Given the description of an element on the screen output the (x, y) to click on. 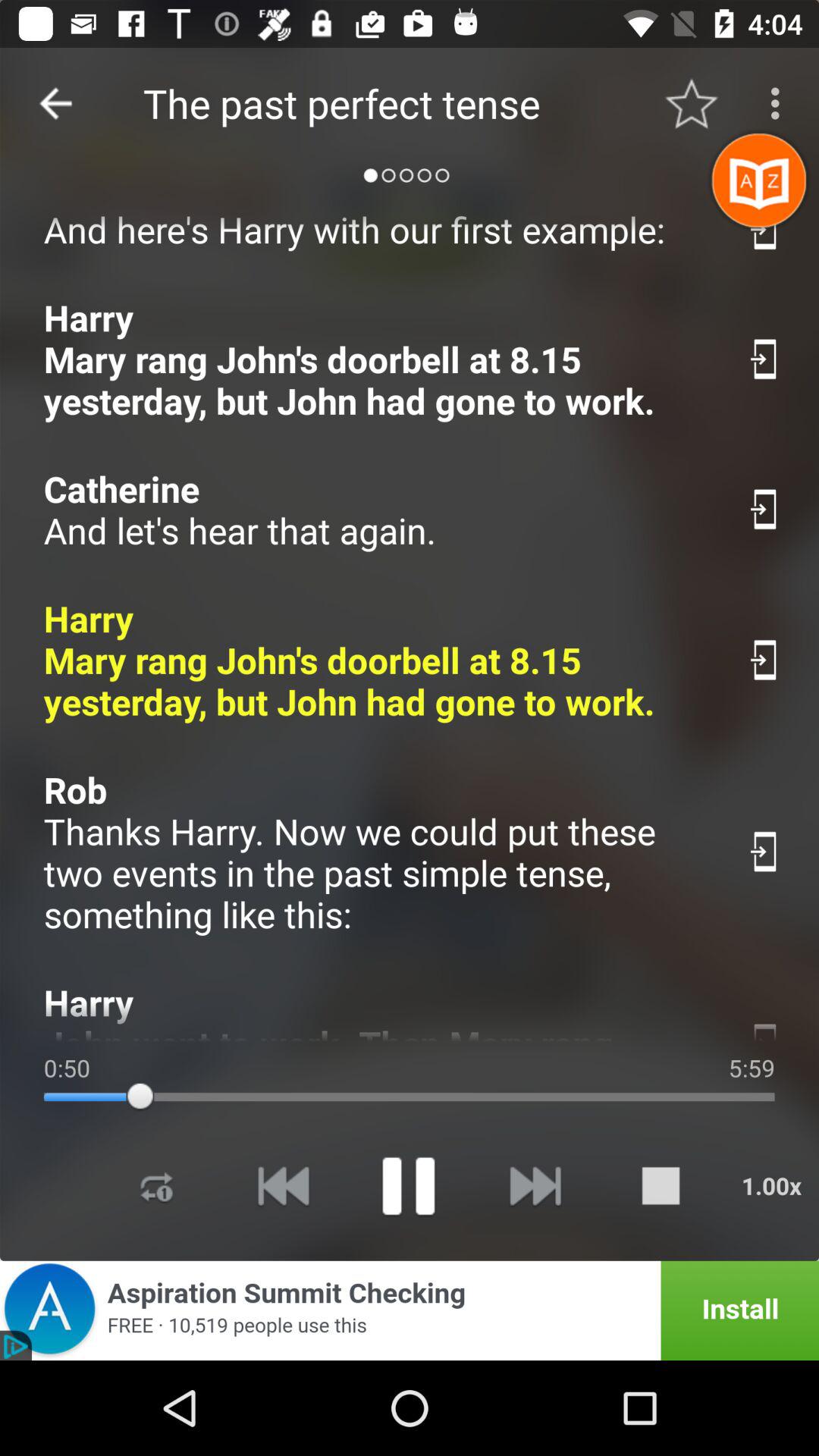
stop (660, 1185)
